Given the description of an element on the screen output the (x, y) to click on. 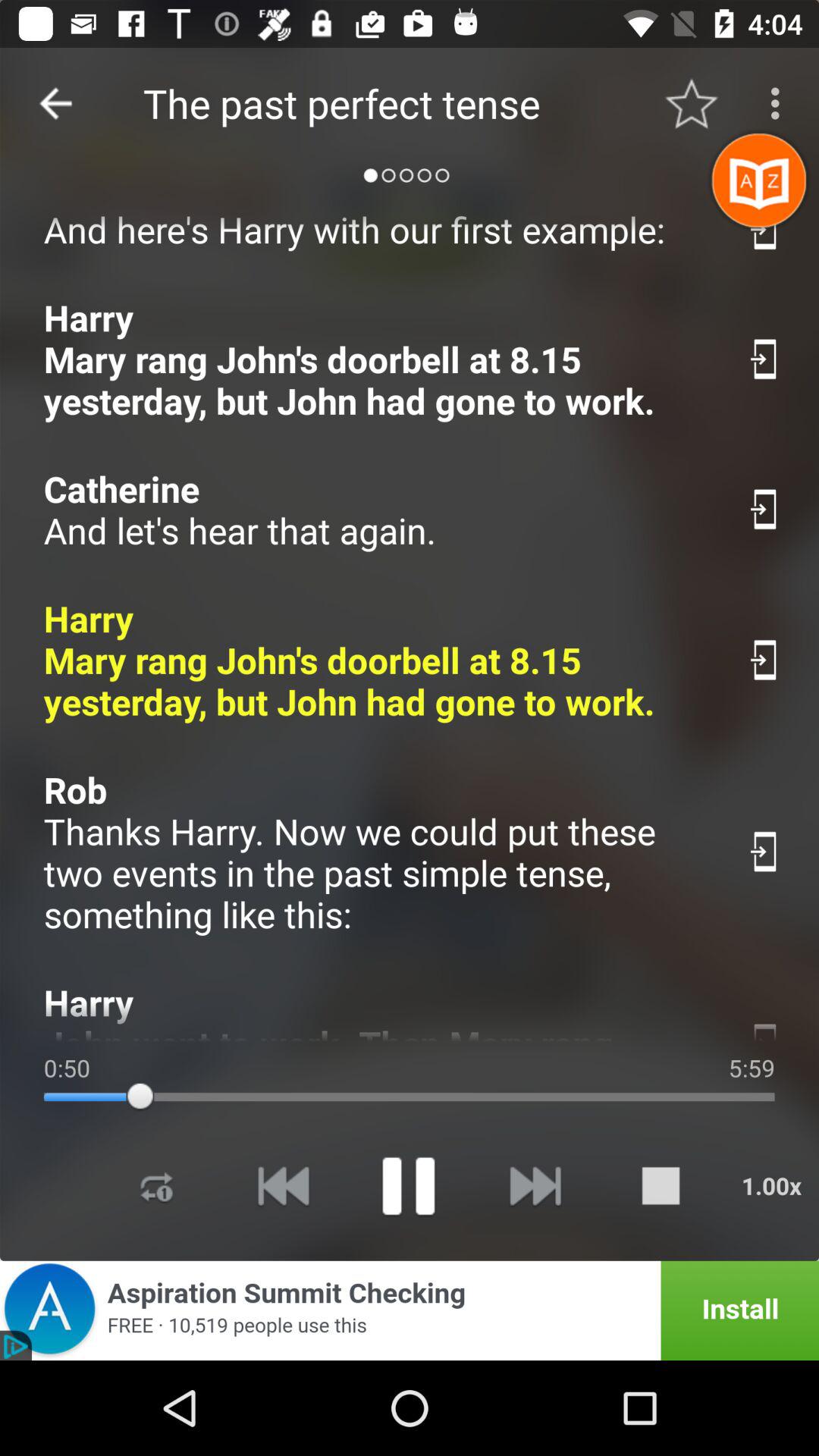
stop (660, 1185)
